Given the description of an element on the screen output the (x, y) to click on. 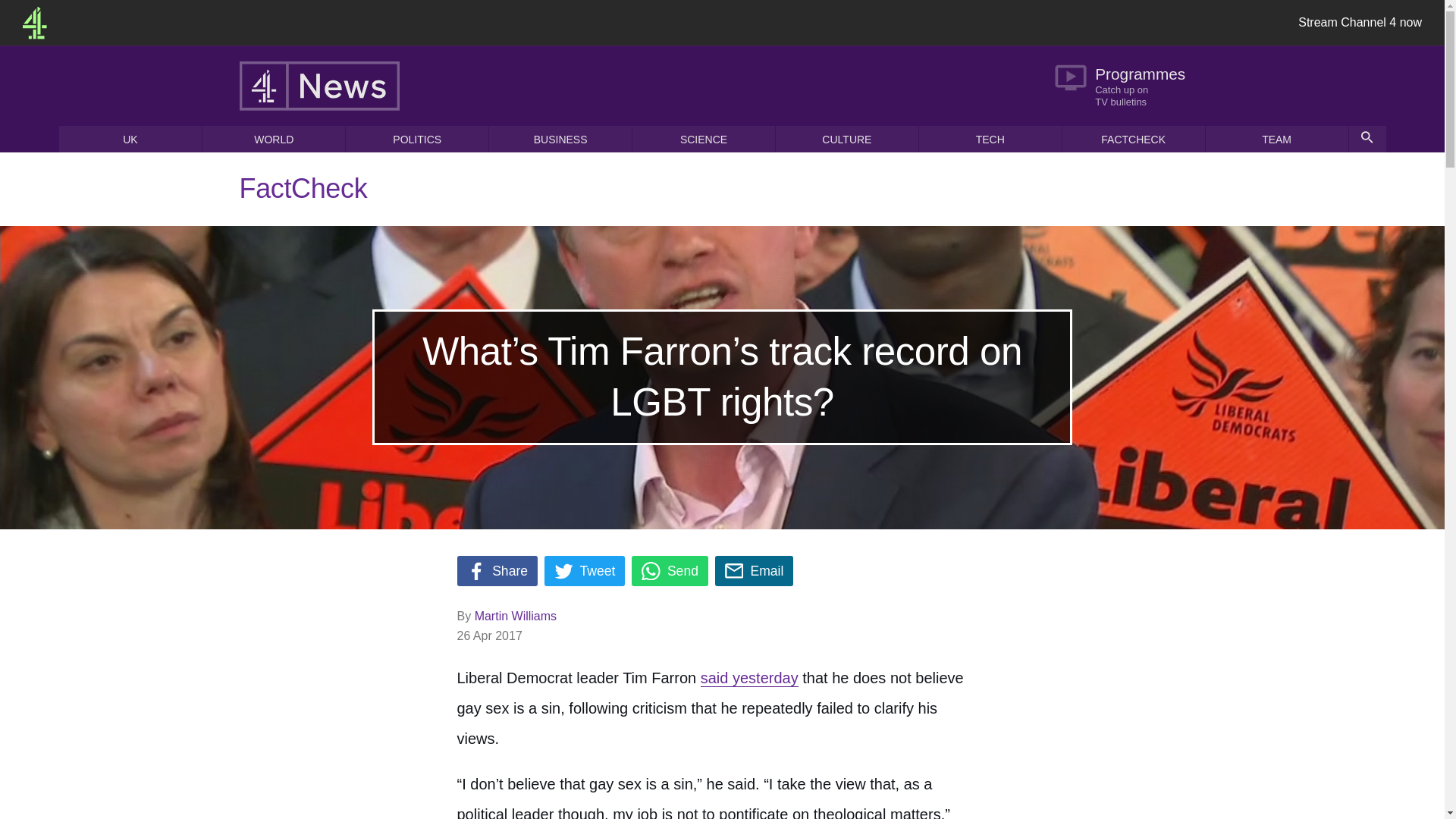
POLITICS (416, 139)
TEAM (1276, 139)
TECH (989, 139)
Tech news (989, 139)
UK (130, 139)
Business news (560, 139)
BUSINESS (560, 139)
Posts by Martin Williams (515, 615)
News team (1276, 139)
UK news (130, 139)
